Given the description of an element on the screen output the (x, y) to click on. 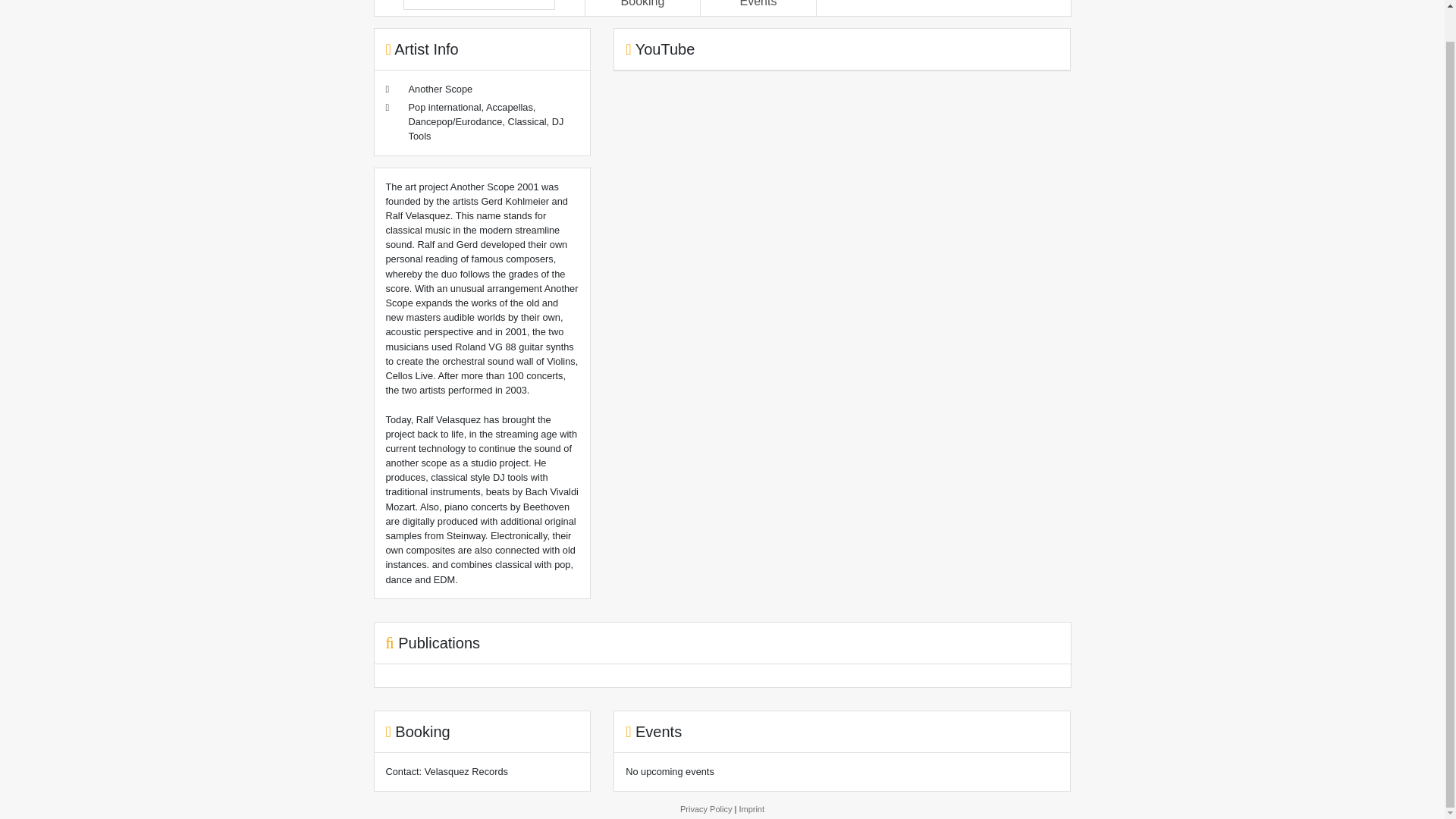
Booking (643, 3)
Imprint (751, 809)
Privacy Policy (705, 809)
Events (758, 3)
